Given the description of an element on the screen output the (x, y) to click on. 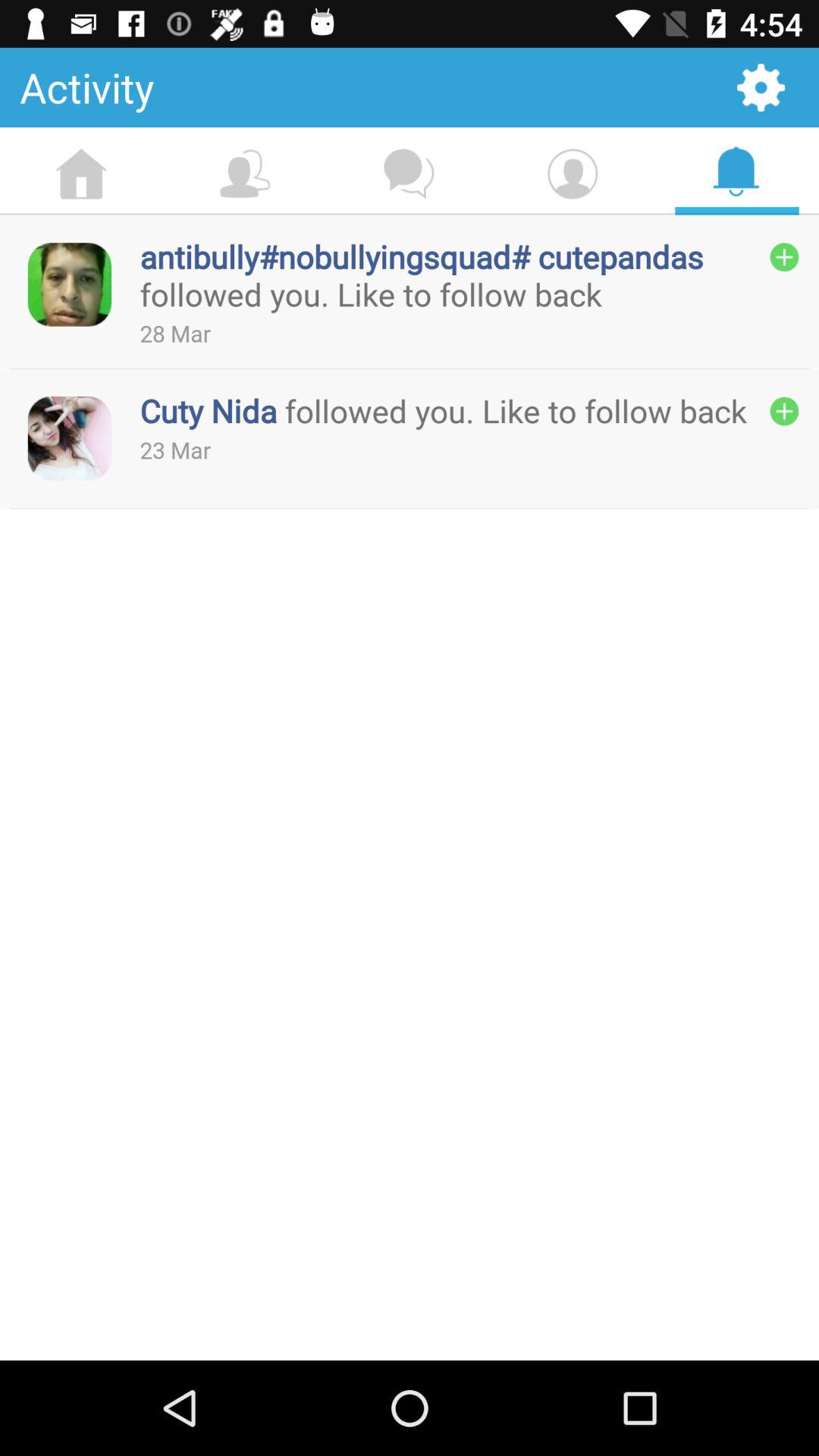
click the item next to the activity item (760, 87)
